Given the description of an element on the screen output the (x, y) to click on. 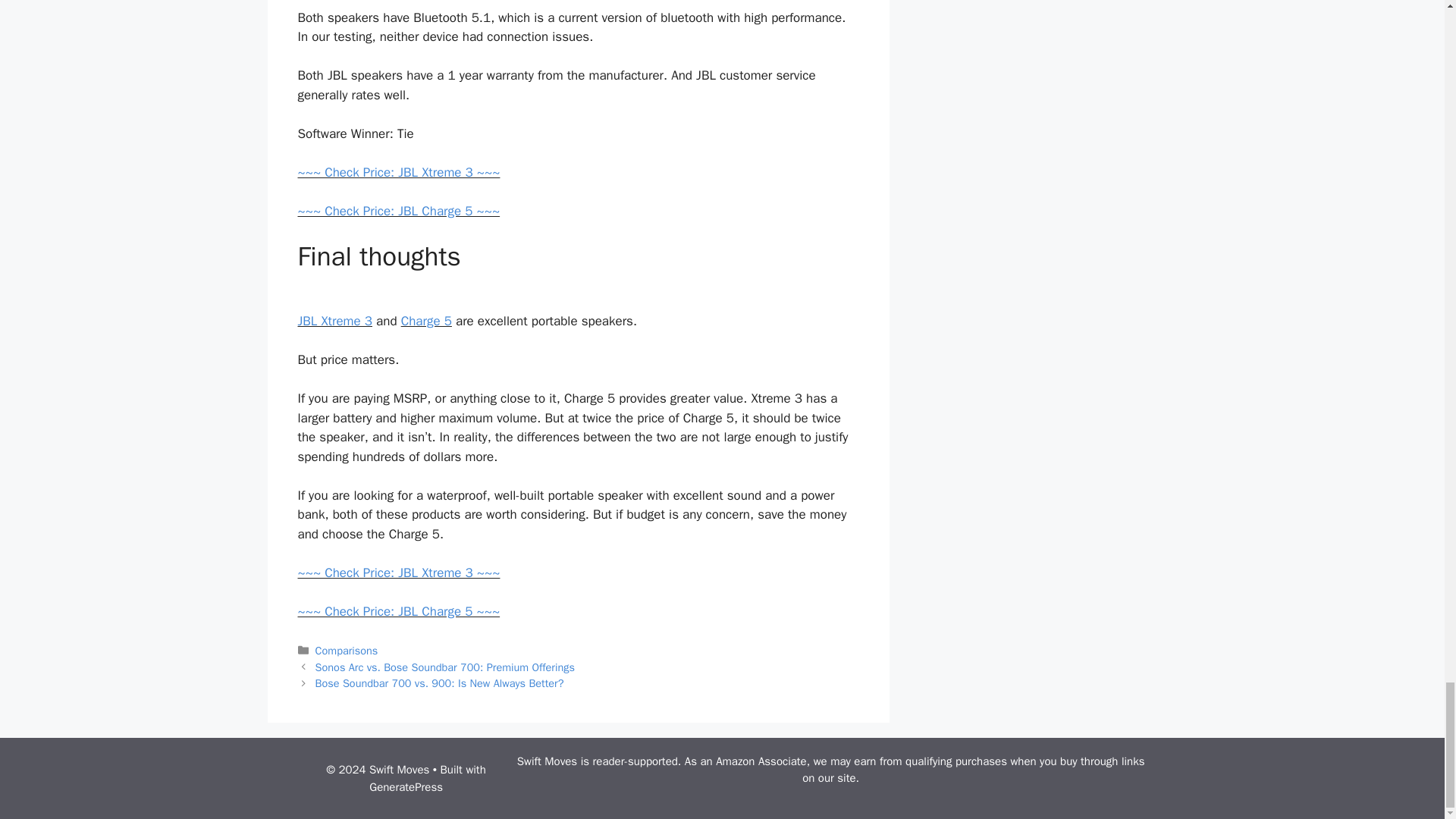
Sonos Arc vs. Bose Soundbar 700: Premium Offerings (445, 667)
Previous (445, 667)
JBL Xtreme 3 (334, 320)
Comparisons (346, 650)
Charge 5 (426, 320)
Bose Soundbar 700 vs. 900: Is New Always Better? (439, 683)
Next (439, 683)
